Given the description of an element on the screen output the (x, y) to click on. 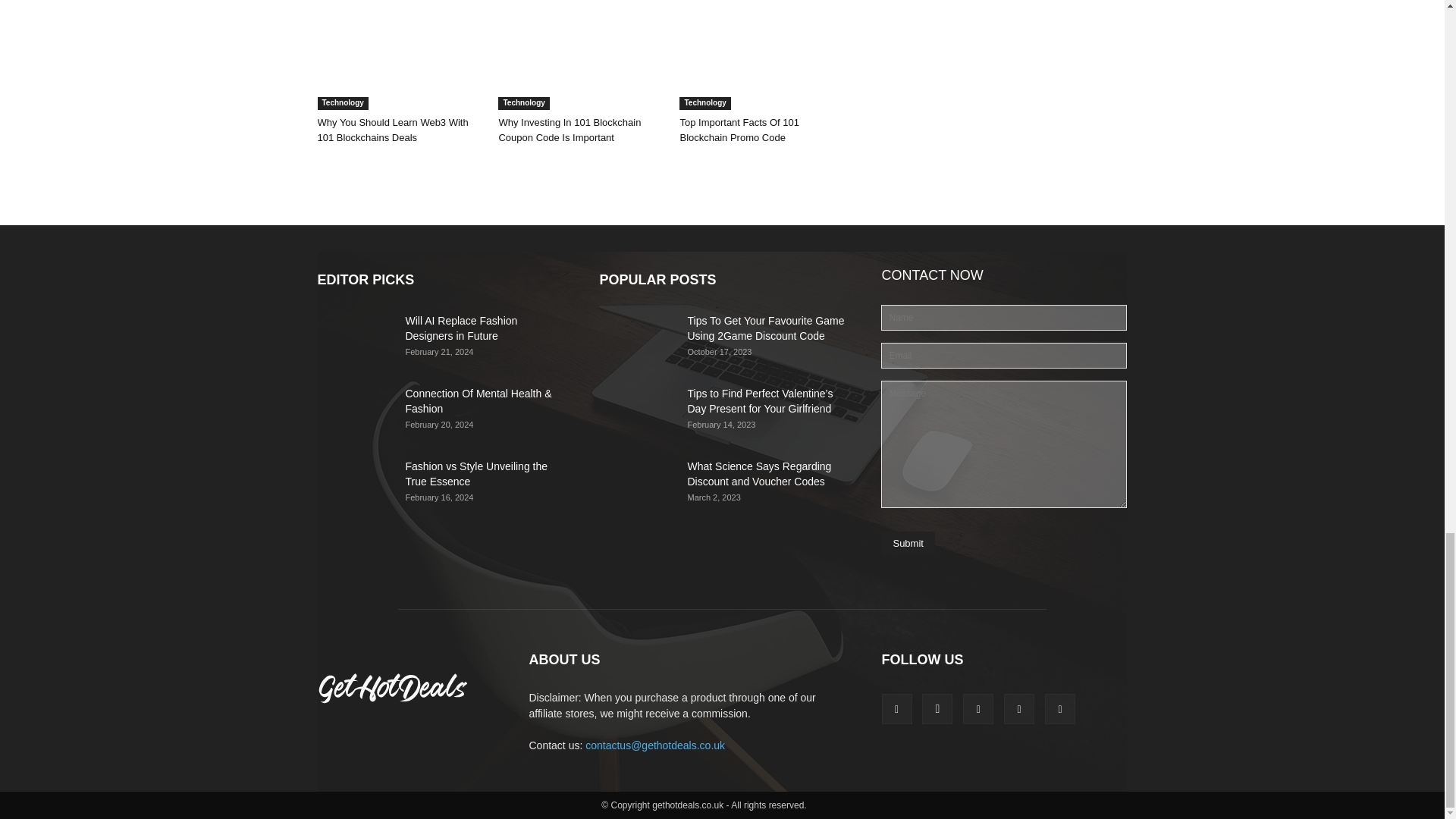
Why Investing In 101 Blockchain Coupon Code Is Important (580, 54)
Why You Should Learn Web3 With 101 Blockchains Deals (399, 54)
Top Important Facts Of 101 Blockchain Promo Code (761, 54)
Why Investing In 101 Blockchain Coupon Code Is Important (568, 130)
Submit (907, 543)
Why You Should Learn Web3 With 101 Blockchains Deals (392, 130)
